Given the description of an element on the screen output the (x, y) to click on. 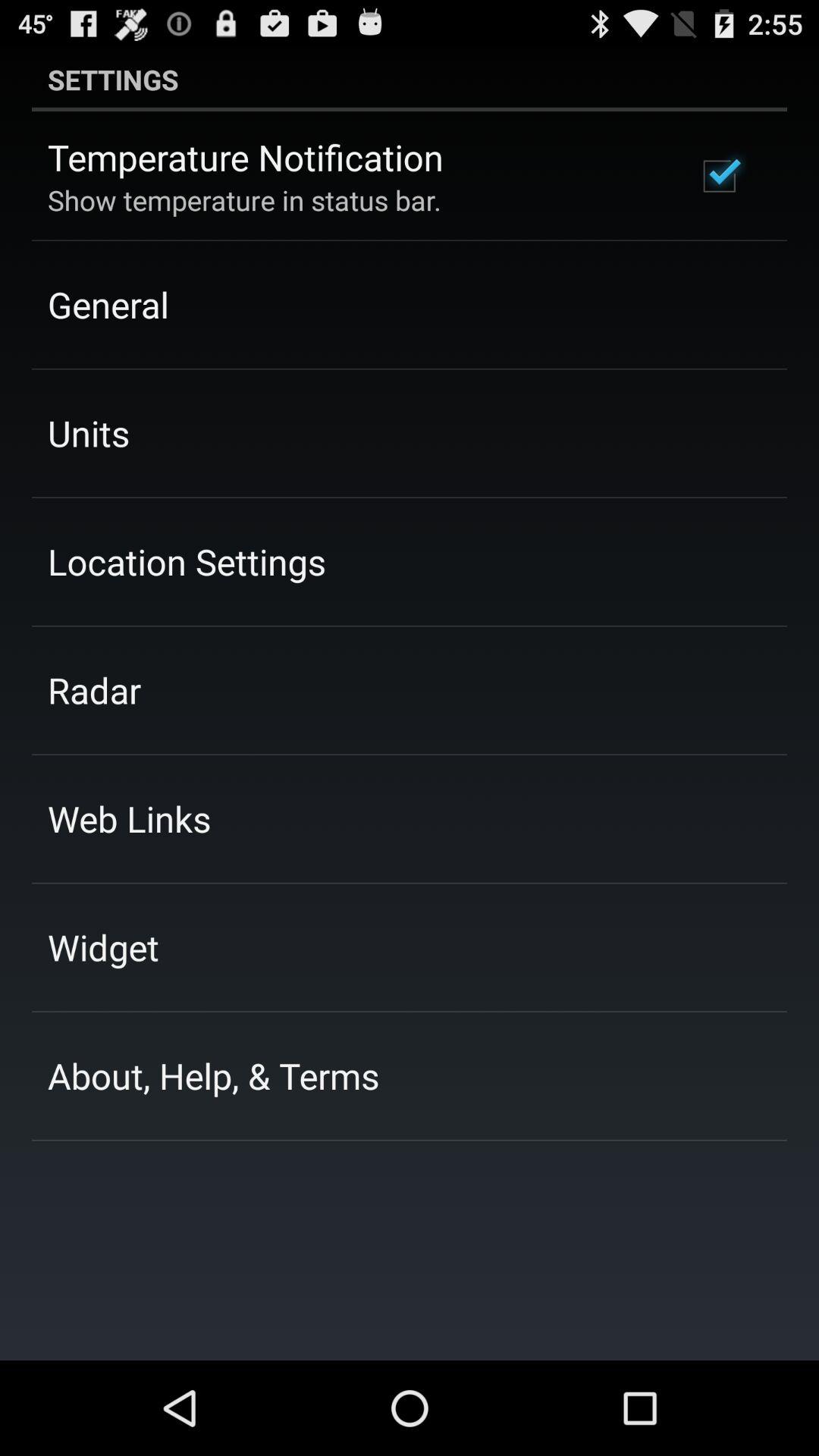
jump until temperature notification icon (245, 157)
